Given the description of an element on the screen output the (x, y) to click on. 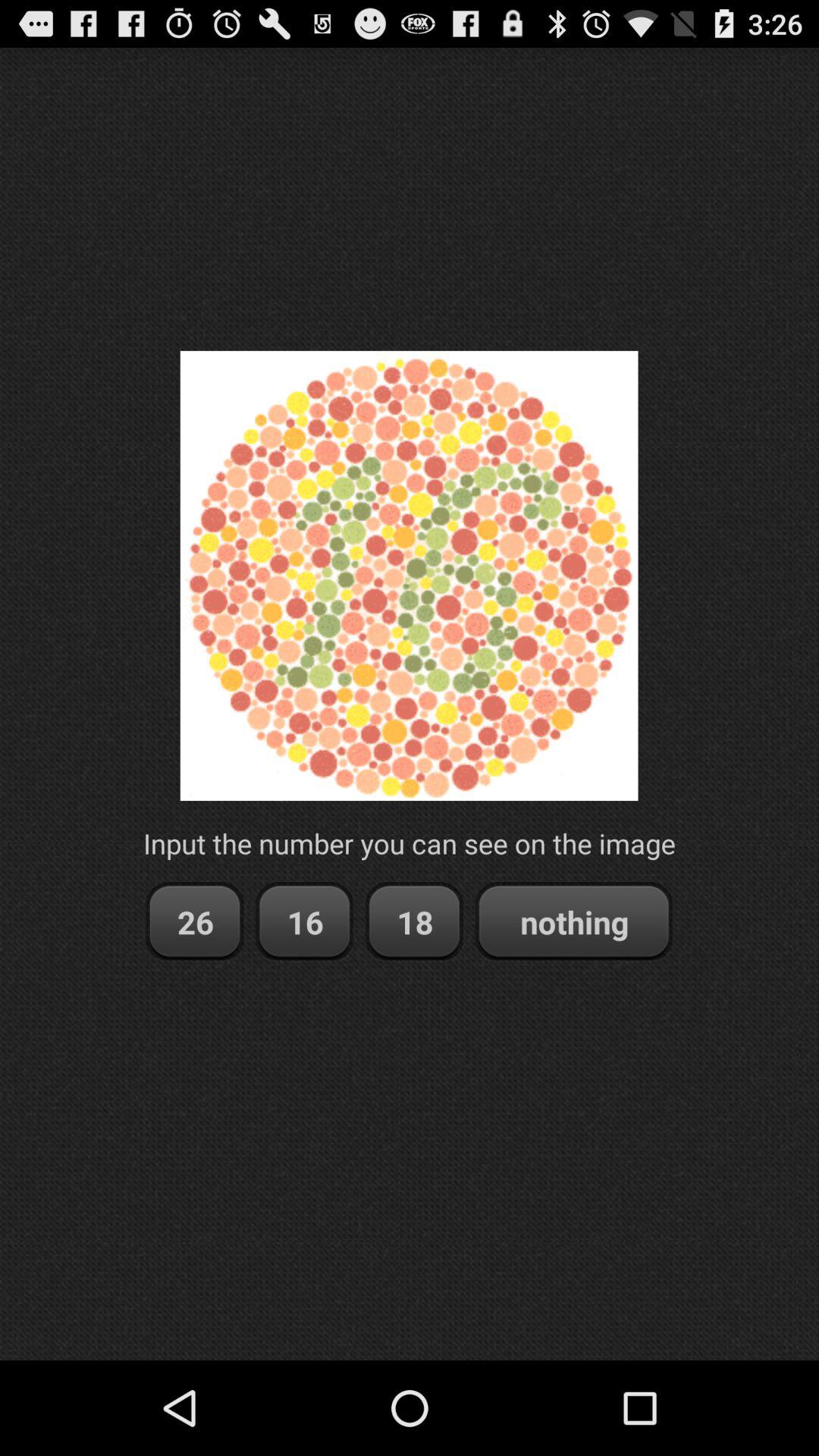
turn off the icon next to nothing button (414, 921)
